Given the description of an element on the screen output the (x, y) to click on. 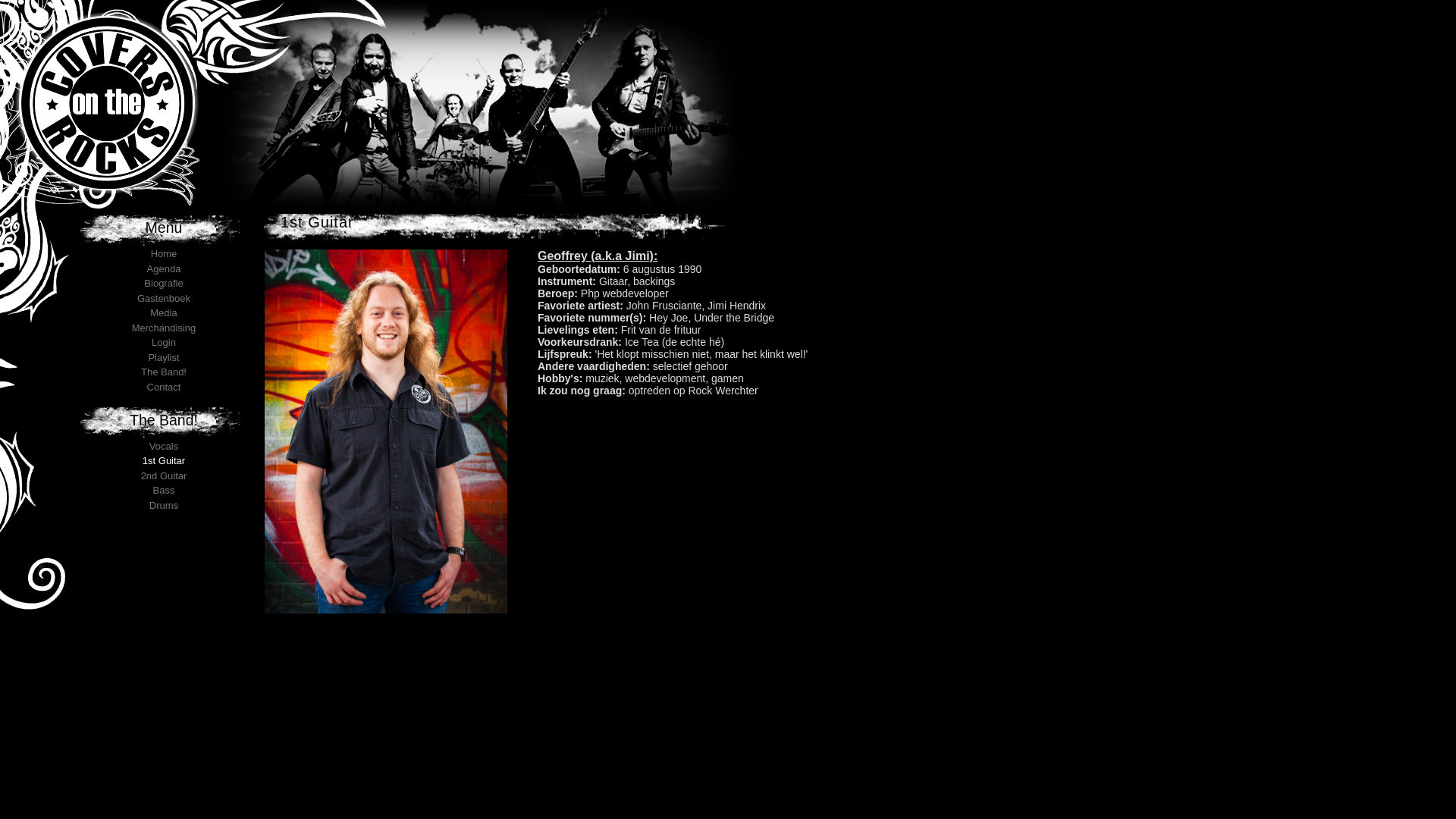
Gastenboek Element type: text (163, 298)
Bass Element type: text (164, 489)
Merchandising Element type: text (163, 326)
Contact Element type: text (164, 386)
2nd Guitar Element type: text (164, 475)
Media Element type: text (163, 312)
Playlist Element type: text (162, 357)
Biografie Element type: text (163, 282)
Home Element type: text (163, 253)
Login Element type: text (163, 342)
Vocals Element type: text (163, 445)
Agenda Element type: text (164, 267)
Drums Element type: text (163, 505)
1st Guitar Element type: text (163, 460)
The Band! Element type: text (163, 371)
